Given the description of an element on the screen output the (x, y) to click on. 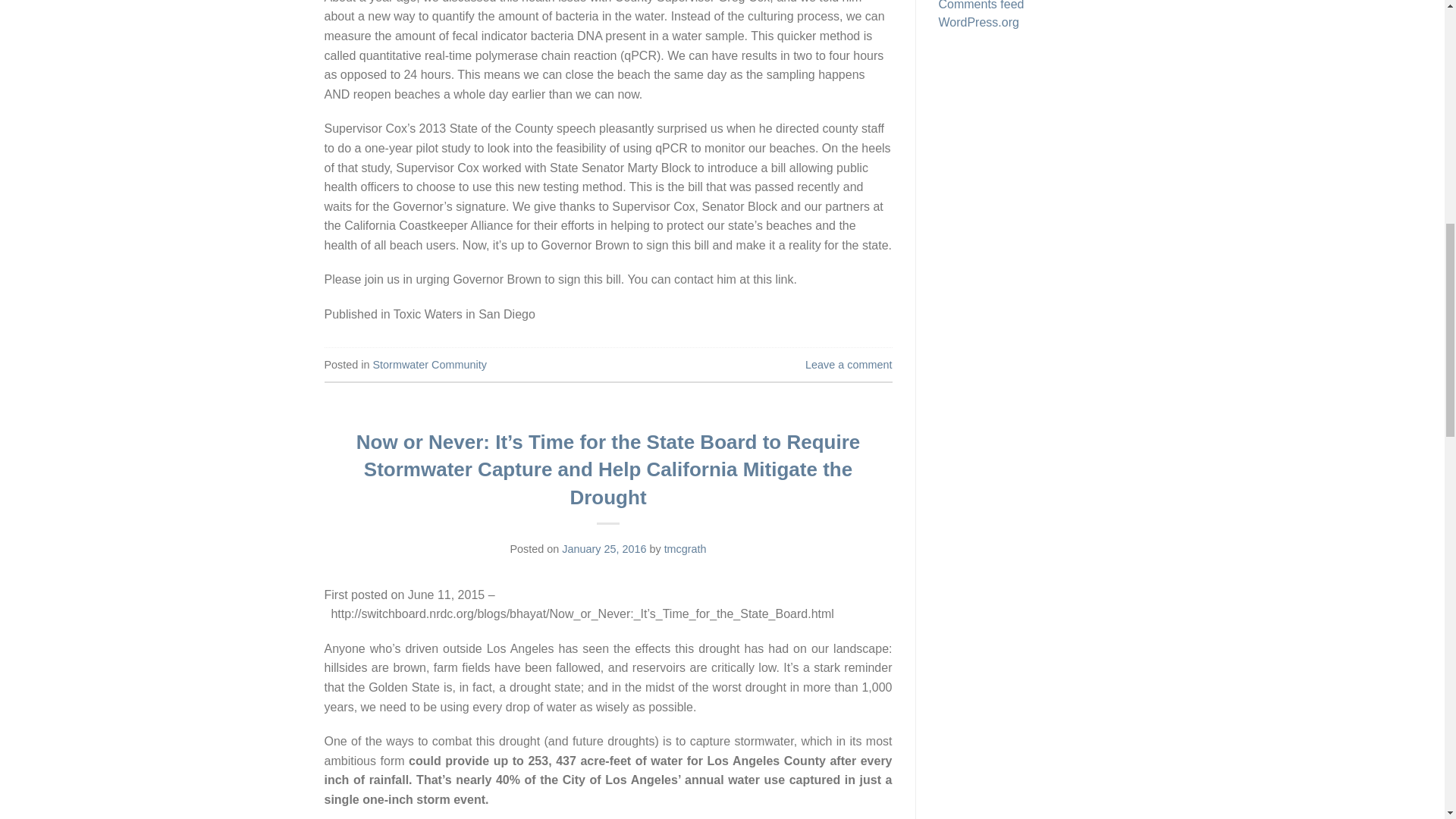
tmcgrath (684, 548)
Comments feed (1030, 7)
January 25, 2016 (604, 548)
Stormwater Community (429, 364)
WordPress.org (1030, 24)
Leave a comment (848, 364)
